Given the description of an element on the screen output the (x, y) to click on. 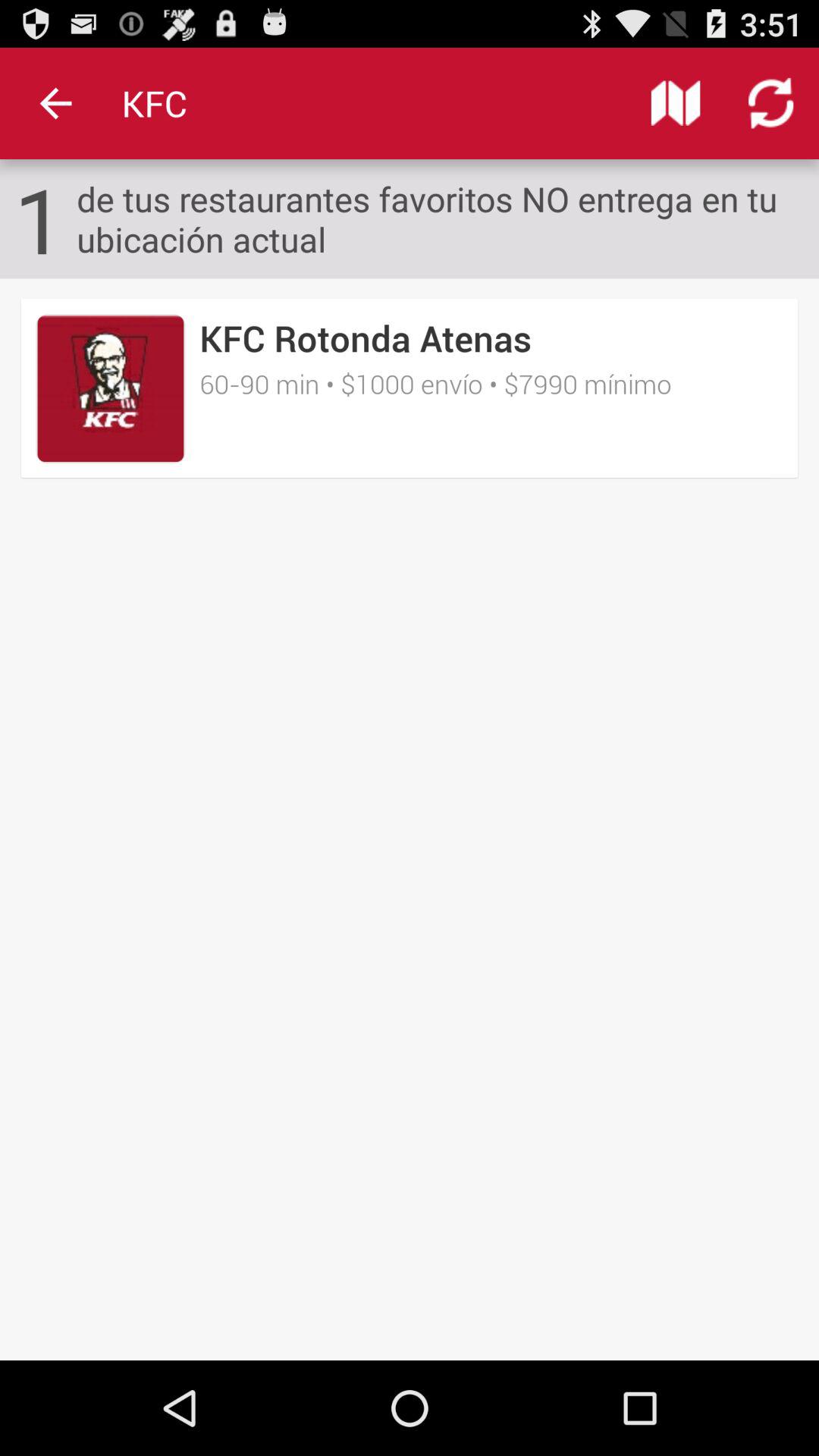
launch icon next to 1 (447, 218)
